Given the description of an element on the screen output the (x, y) to click on. 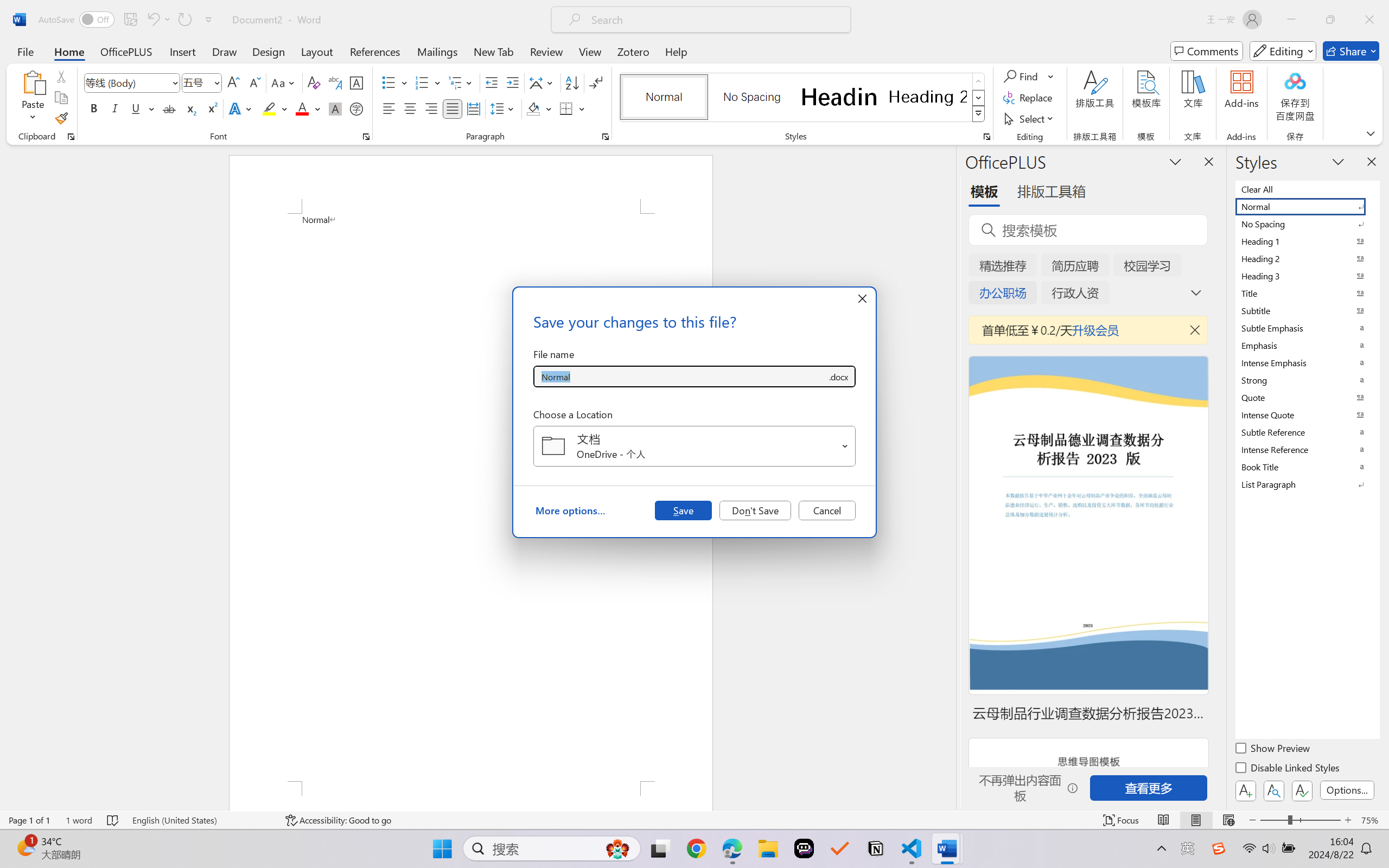
Clear All (1306, 188)
Bullets (395, 82)
Home (69, 51)
Notion (875, 848)
Styles (978, 113)
Align Right (431, 108)
AutomationID: DynamicSearchBoxGleamImage (617, 848)
Borders (566, 108)
Repeat Style (184, 19)
Asian Layout (542, 82)
File name (680, 376)
Subtitle (1306, 310)
